Given the description of an element on the screen output the (x, y) to click on. 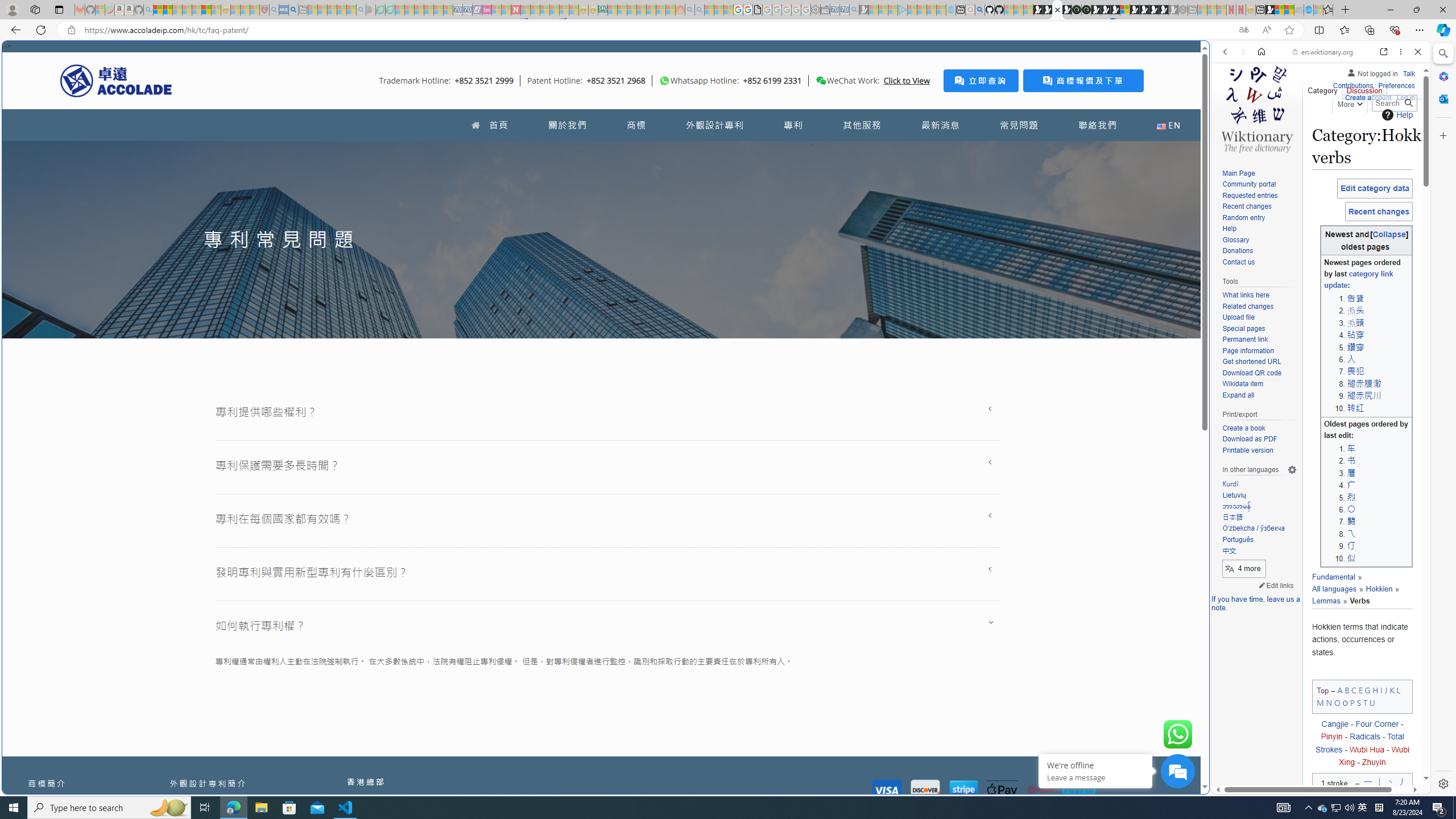
Not logged in (1371, 71)
More (1349, 101)
